Given the description of an element on the screen output the (x, y) to click on. 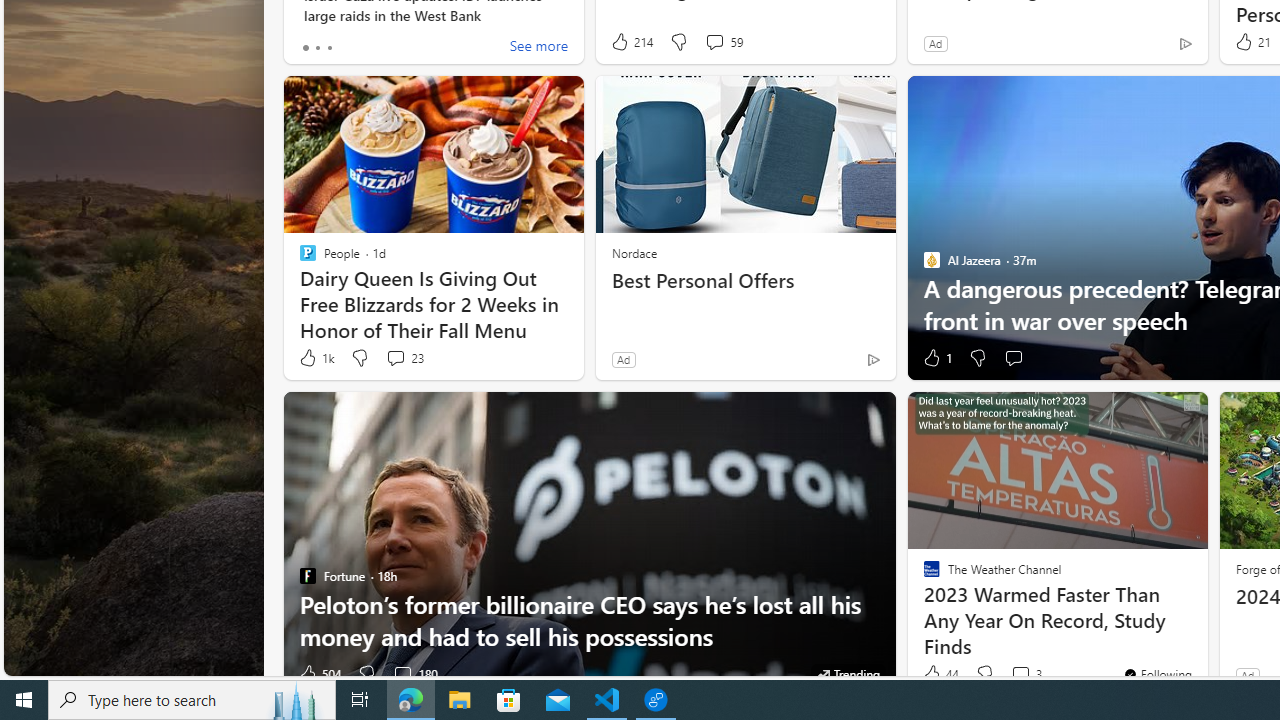
View comments 59 Comment (714, 41)
Best Personal Offers (745, 281)
1k Like (315, 358)
You're following The Weather Channel (1157, 673)
View comments 23 Comment (404, 358)
504 Like (319, 674)
View comments 180 Comment (402, 673)
View comments 180 Comment (414, 674)
This story is trending (847, 673)
